Given the description of an element on the screen output the (x, y) to click on. 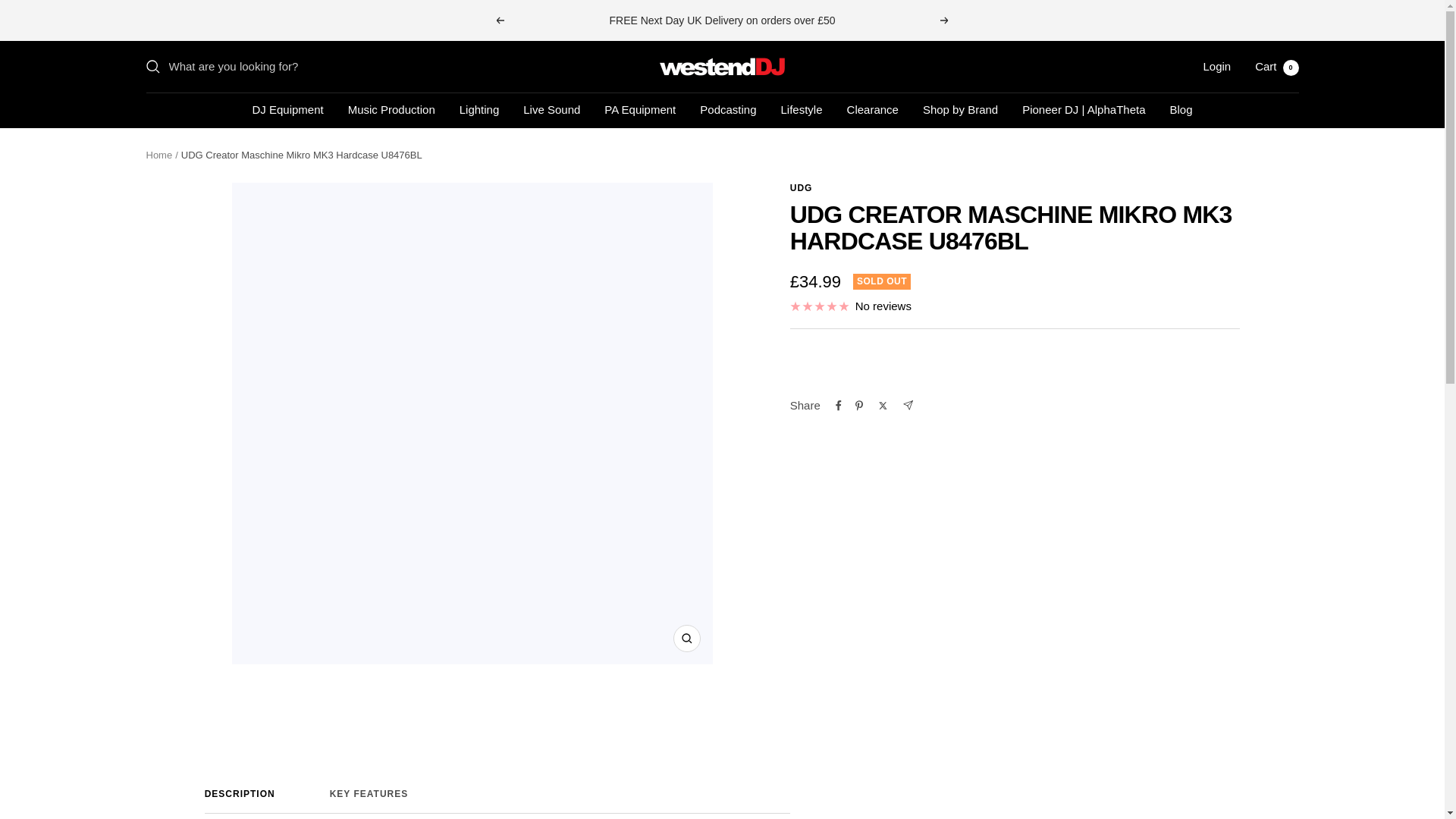
DJ Equipment (287, 109)
Lighting (479, 109)
Live Sound (550, 109)
Music Production (497, 801)
Previous (391, 109)
Westend DJ (1276, 65)
Podcasting (499, 20)
Blog (721, 66)
Shop by Brand (727, 109)
Clearance (1180, 109)
Lifestyle (497, 801)
Login (960, 109)
